Given the description of an element on the screen output the (x, y) to click on. 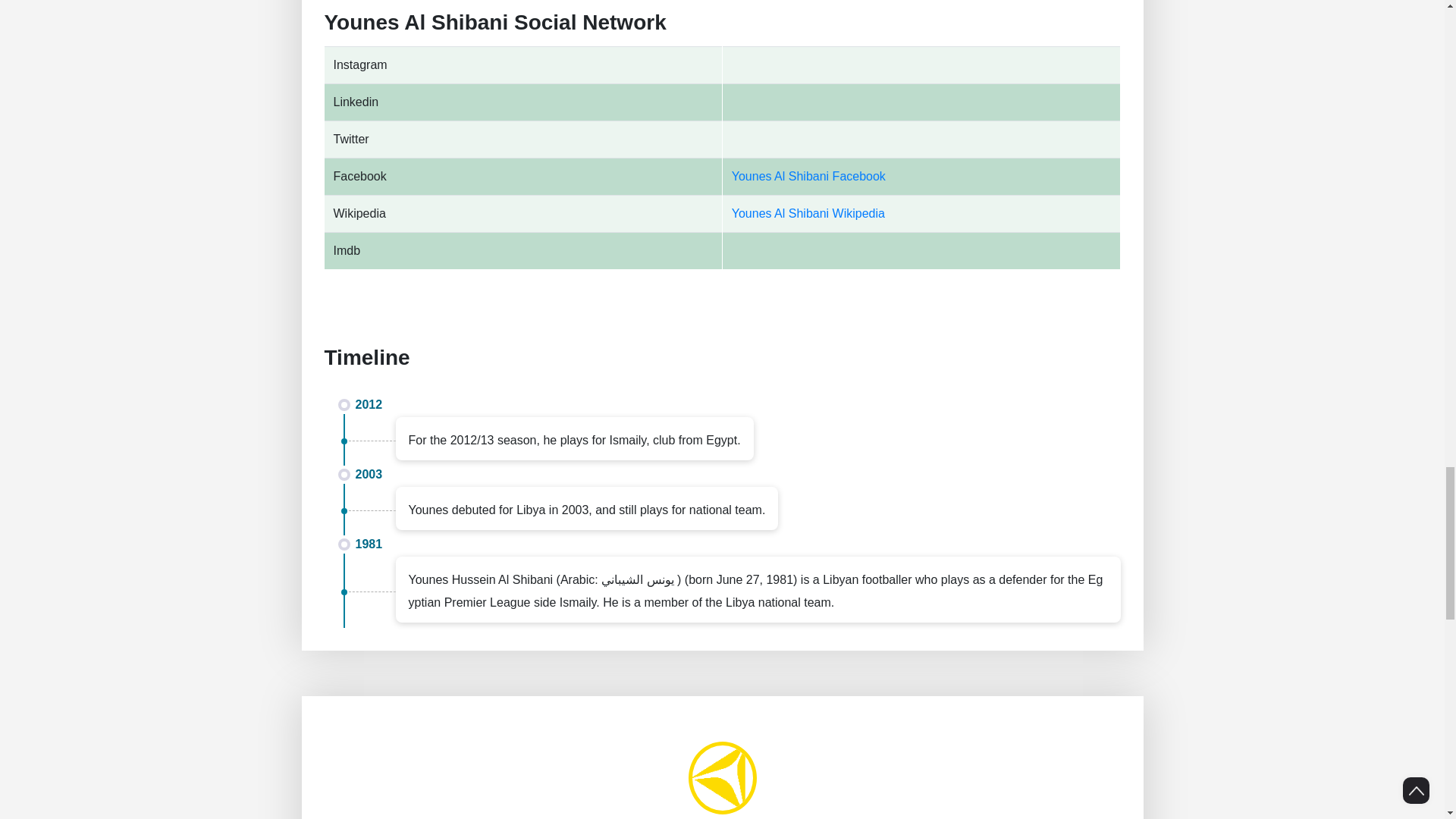
Younes Al Shibani Wikipedia (808, 213)
Younes Al Shibani Facebook (808, 175)
